Given the description of an element on the screen output the (x, y) to click on. 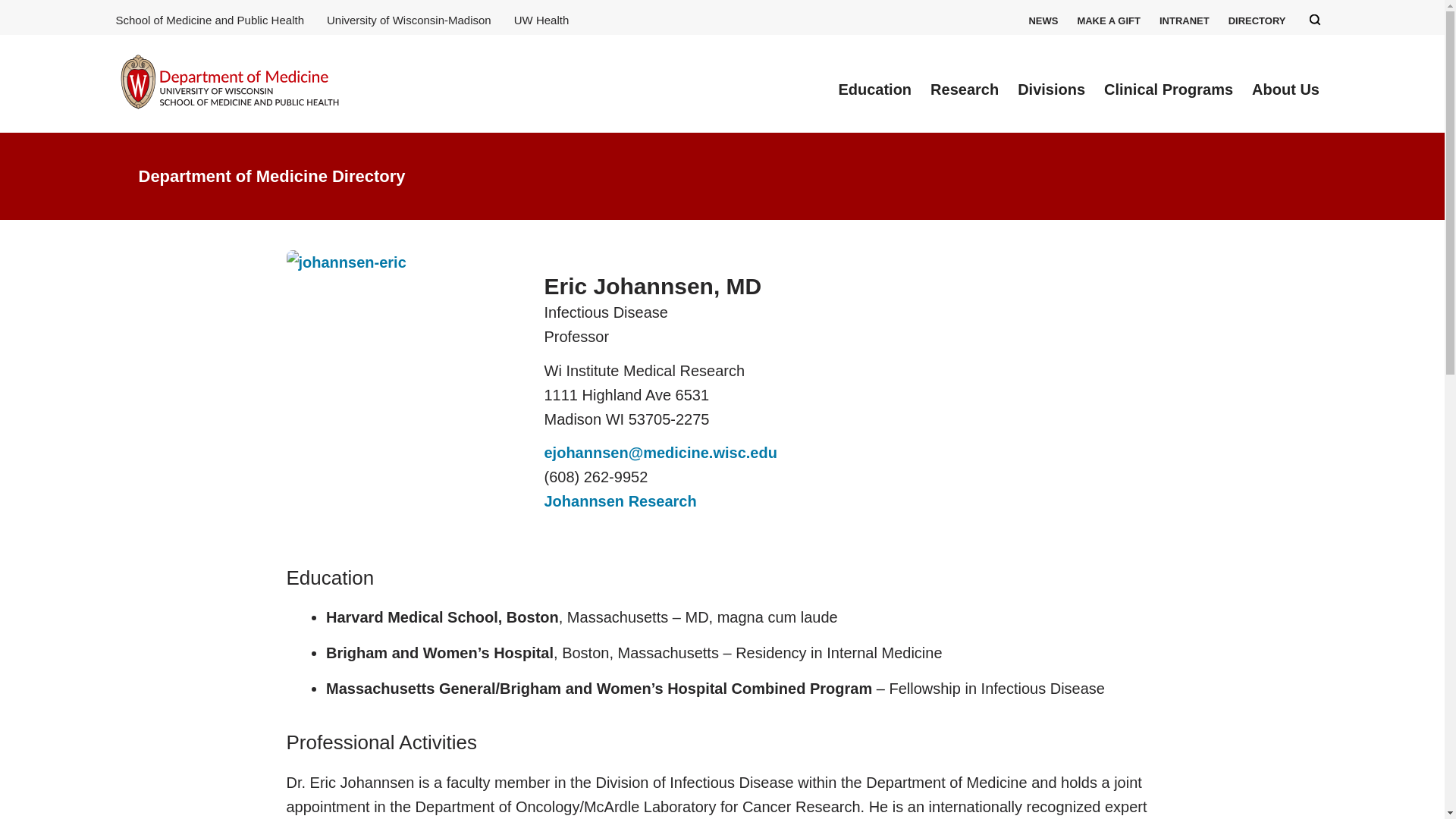
Education (874, 89)
INTRANET (1183, 20)
University of Wisconsin-Madison (409, 19)
DIRECTORY (1256, 20)
School of Medicine and Public Health (208, 19)
MAKE A GIFT (1108, 20)
UW Health (541, 19)
NEWS (1042, 20)
Home (228, 83)
